Given the description of an element on the screen output the (x, y) to click on. 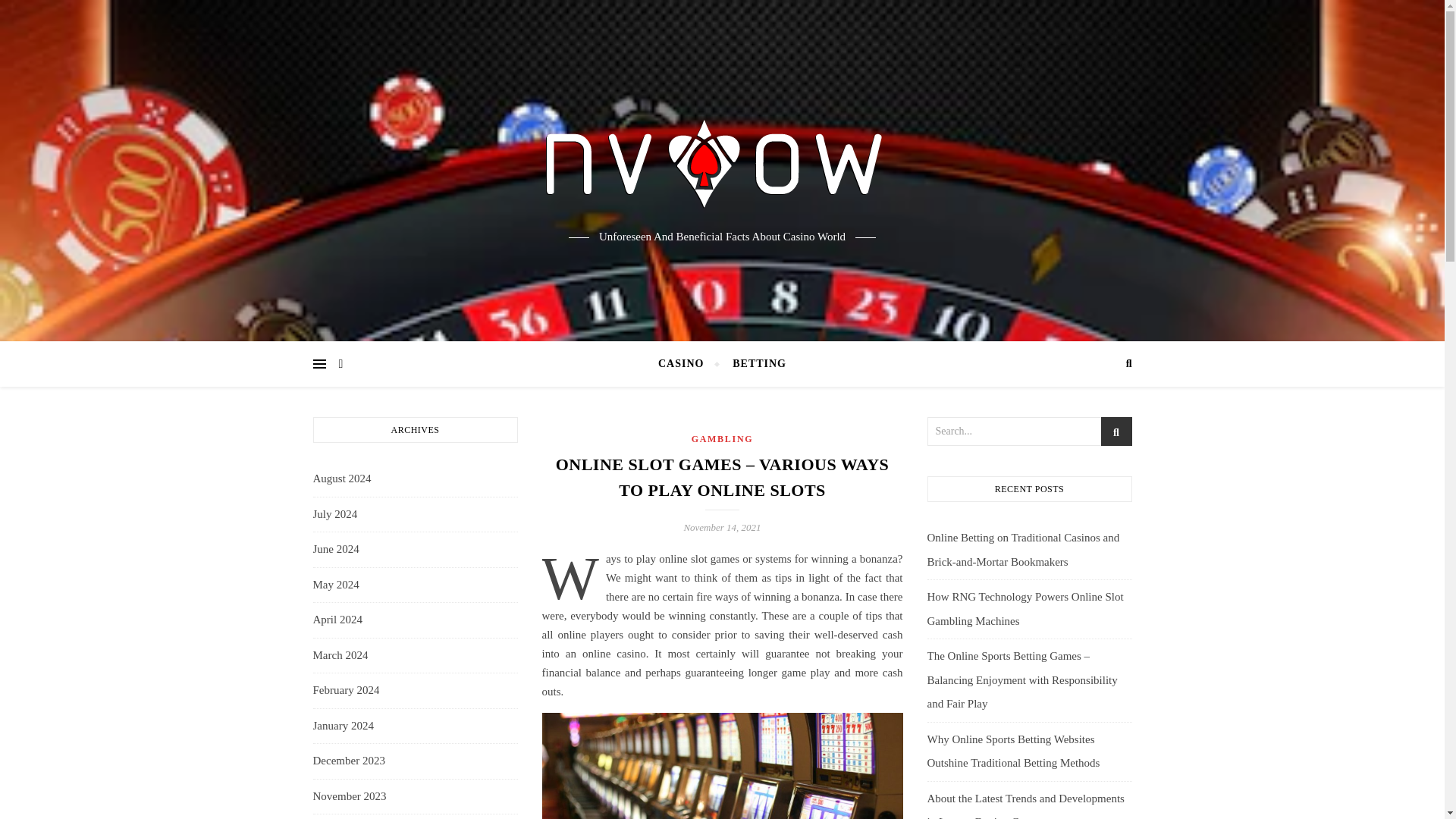
December 2023 (348, 761)
BETTING (752, 363)
March 2024 (340, 654)
April 2024 (337, 620)
August 2024 (342, 478)
June 2024 (335, 549)
November 2023 (349, 795)
CASINO (687, 363)
May 2024 (335, 585)
February 2024 (345, 690)
